Given the description of an element on the screen output the (x, y) to click on. 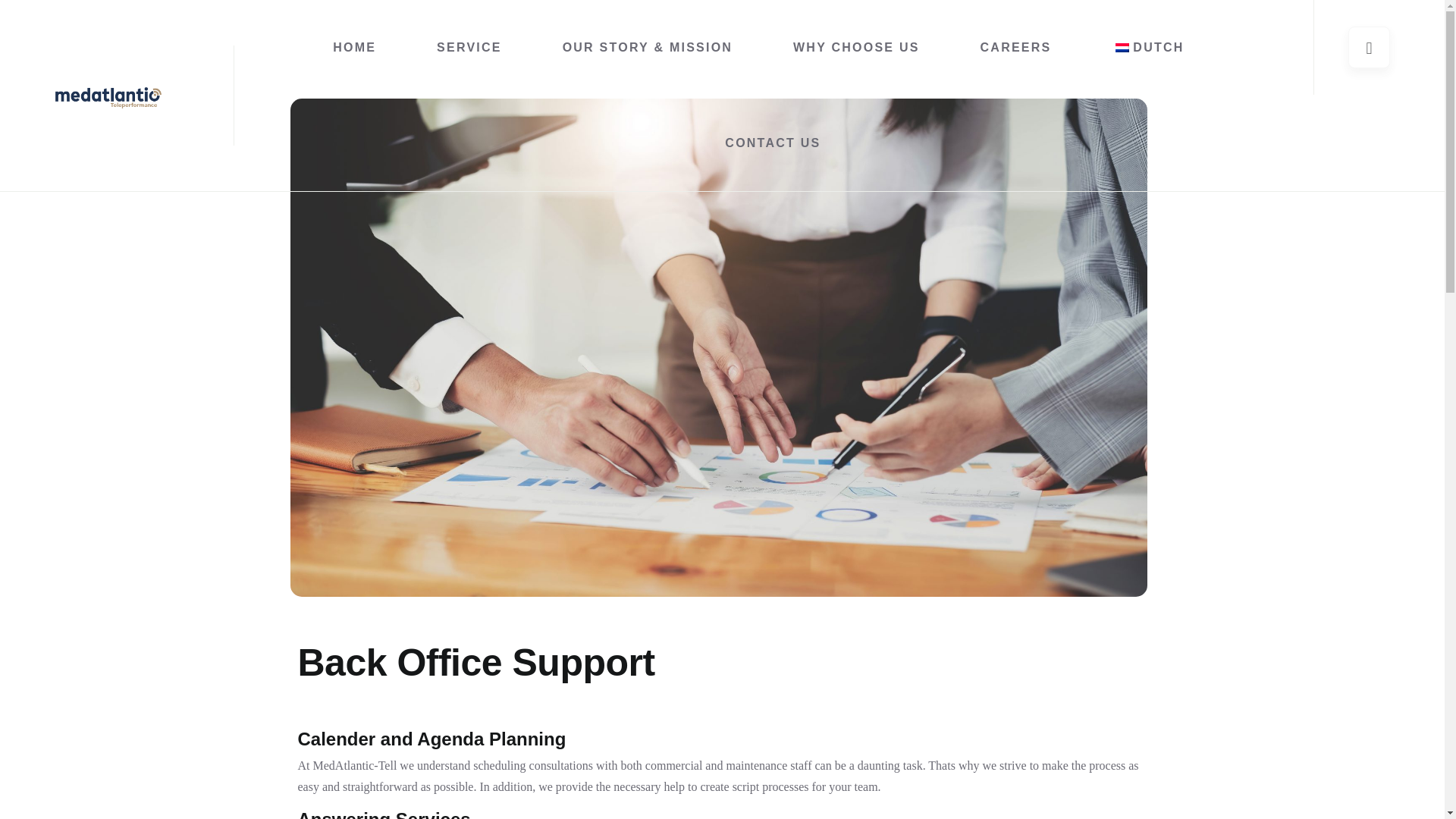
CONTACT US (773, 142)
CAREERS (1015, 47)
WHY CHOOSE US (856, 47)
CONTACT US (773, 142)
Service (469, 47)
Dutch (1122, 47)
Why choose us (856, 47)
Dutch (1147, 47)
HOME (354, 47)
SERVICE (469, 47)
Home (354, 47)
CAREERS (1015, 47)
DUTCH (1147, 47)
